Given the description of an element on the screen output the (x, y) to click on. 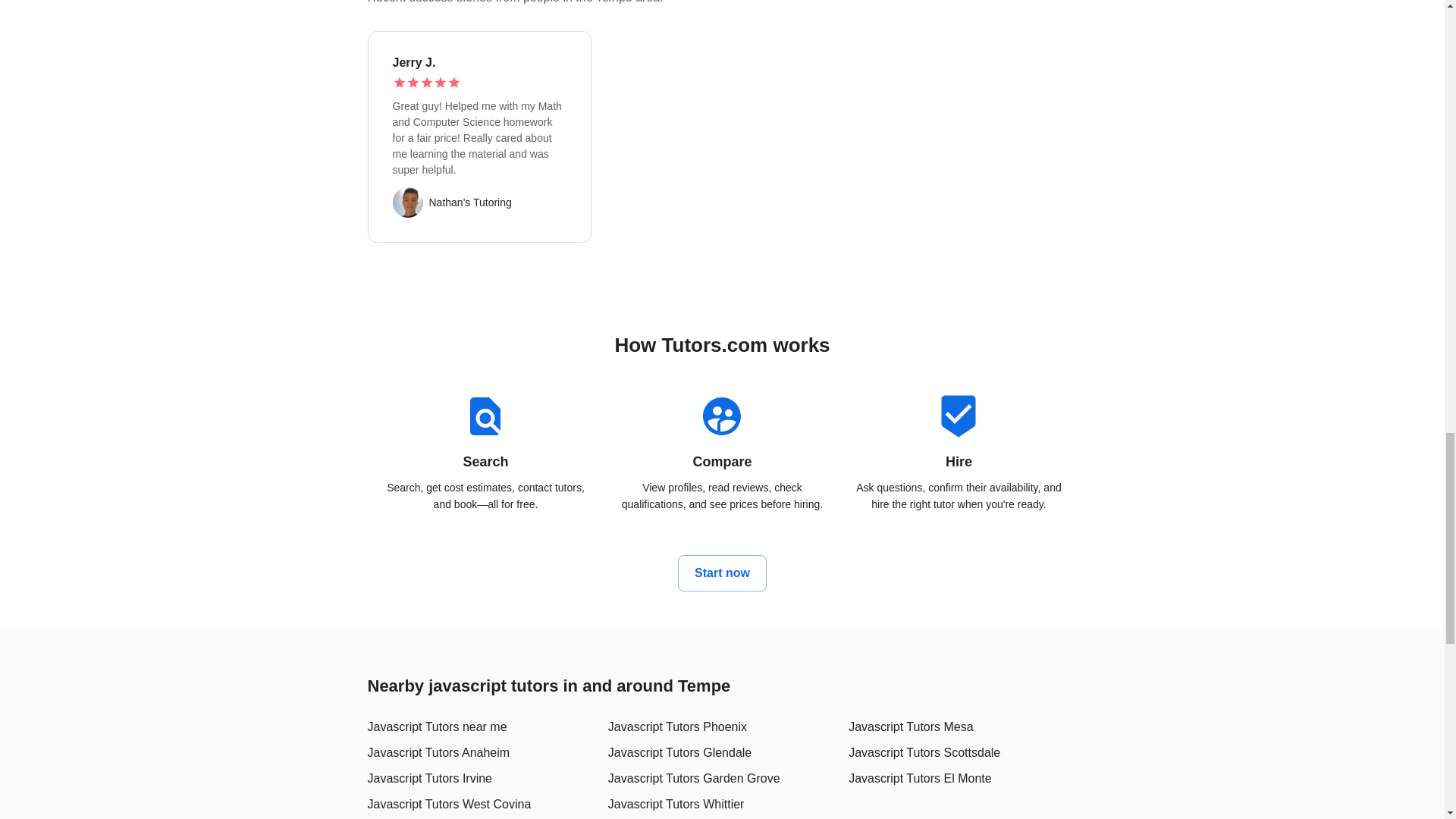
Javascript Tutors Mesa (911, 726)
Javascript Tutors Anaheim (437, 752)
Javascript Tutors near me (436, 726)
Javascript Tutors Phoenix (677, 726)
Start now (722, 573)
